Given the description of an element on the screen output the (x, y) to click on. 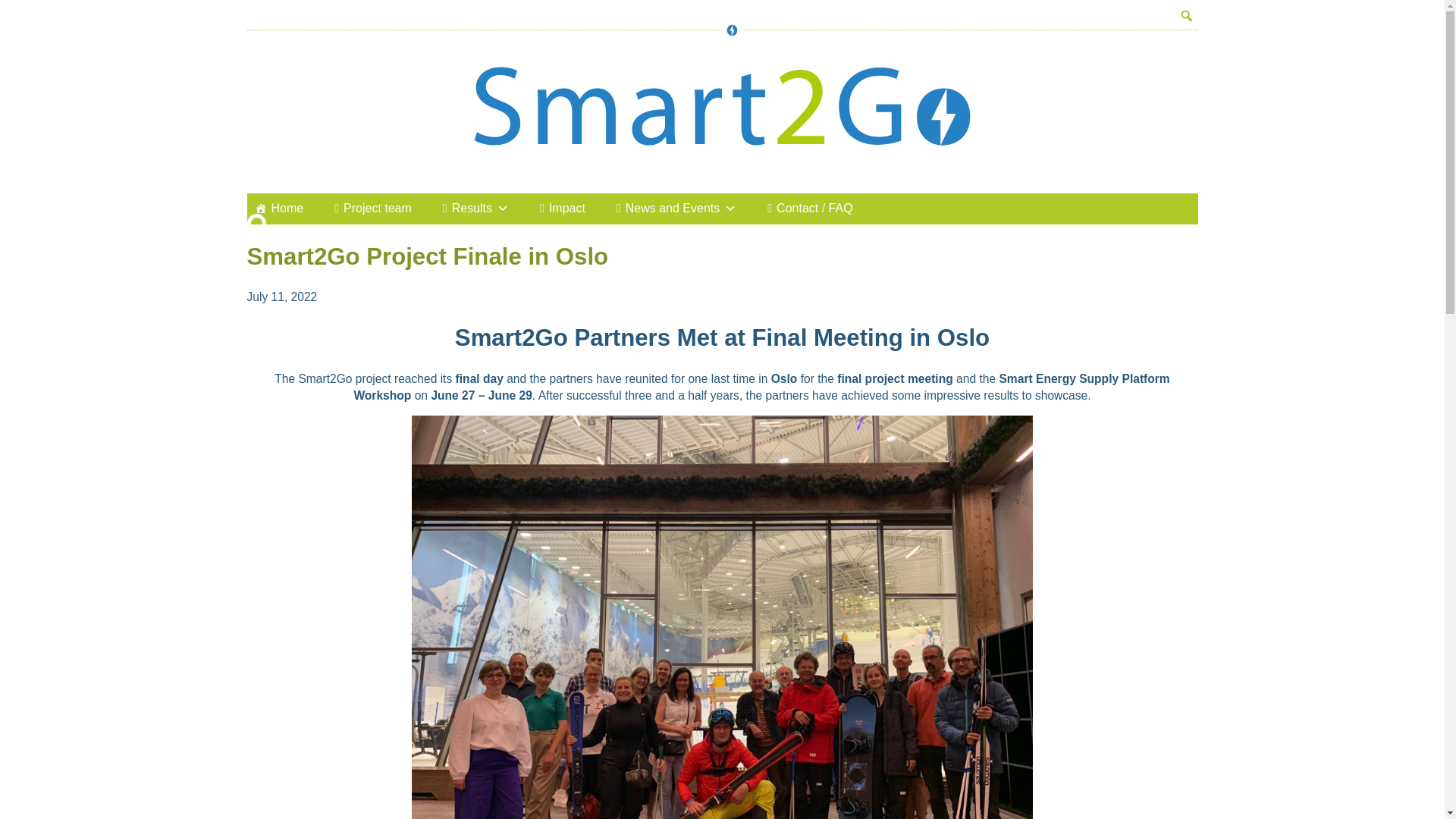
Search (11, 8)
Smart2Go Project Finale in Oslo (427, 256)
News and Events (675, 208)
Impact (561, 209)
Smart2Go Project Finale in Oslo (427, 256)
Results (472, 217)
Home (276, 220)
Project team (370, 218)
